Given the description of an element on the screen output the (x, y) to click on. 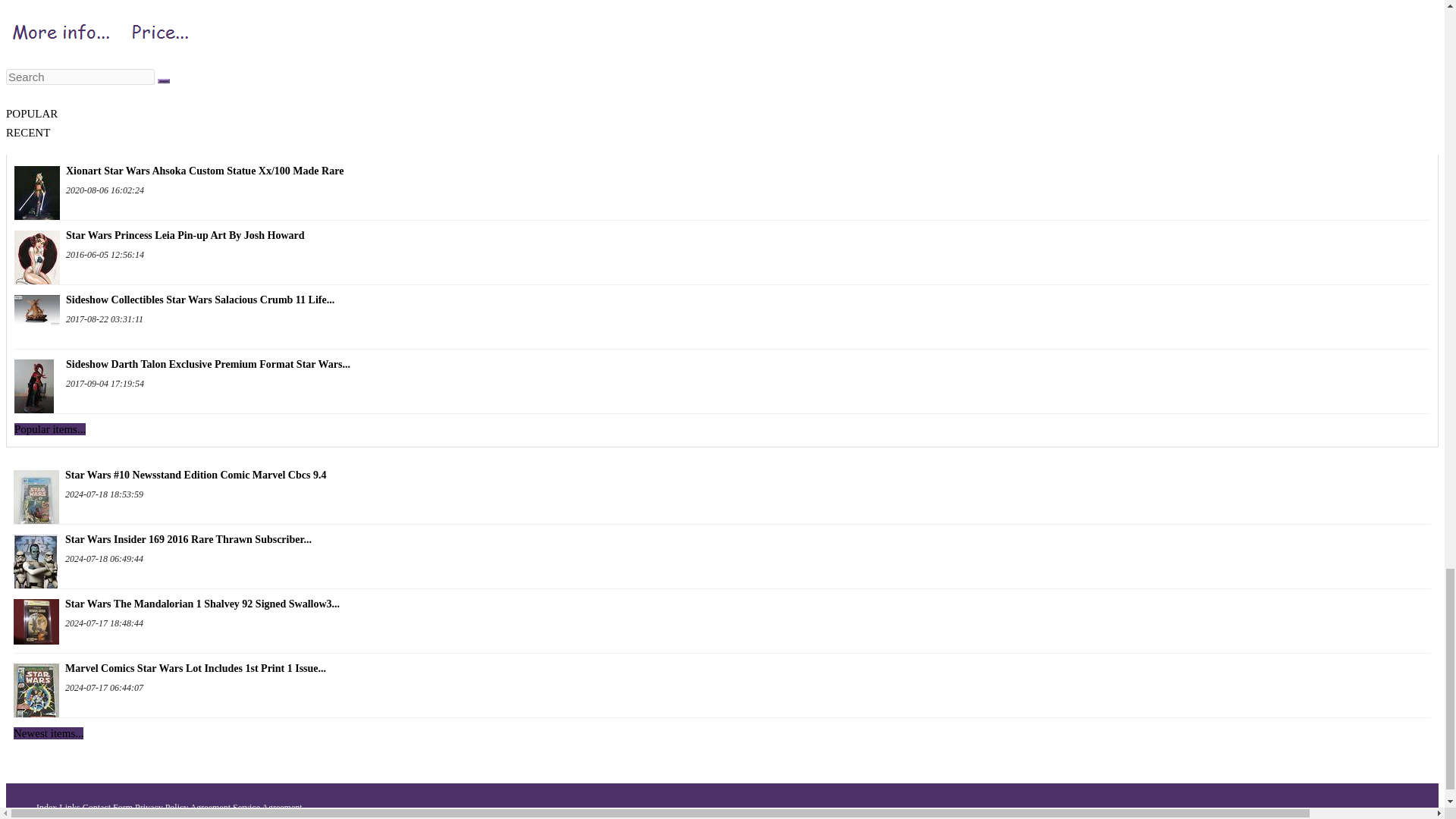
Star Wars Princess Leia Pin-up Art By Josh Howard (721, 235)
Star Wars Princess Leia Pin-up Art By Josh Howard (36, 251)
Popular items (49, 428)
